Given the description of an element on the screen output the (x, y) to click on. 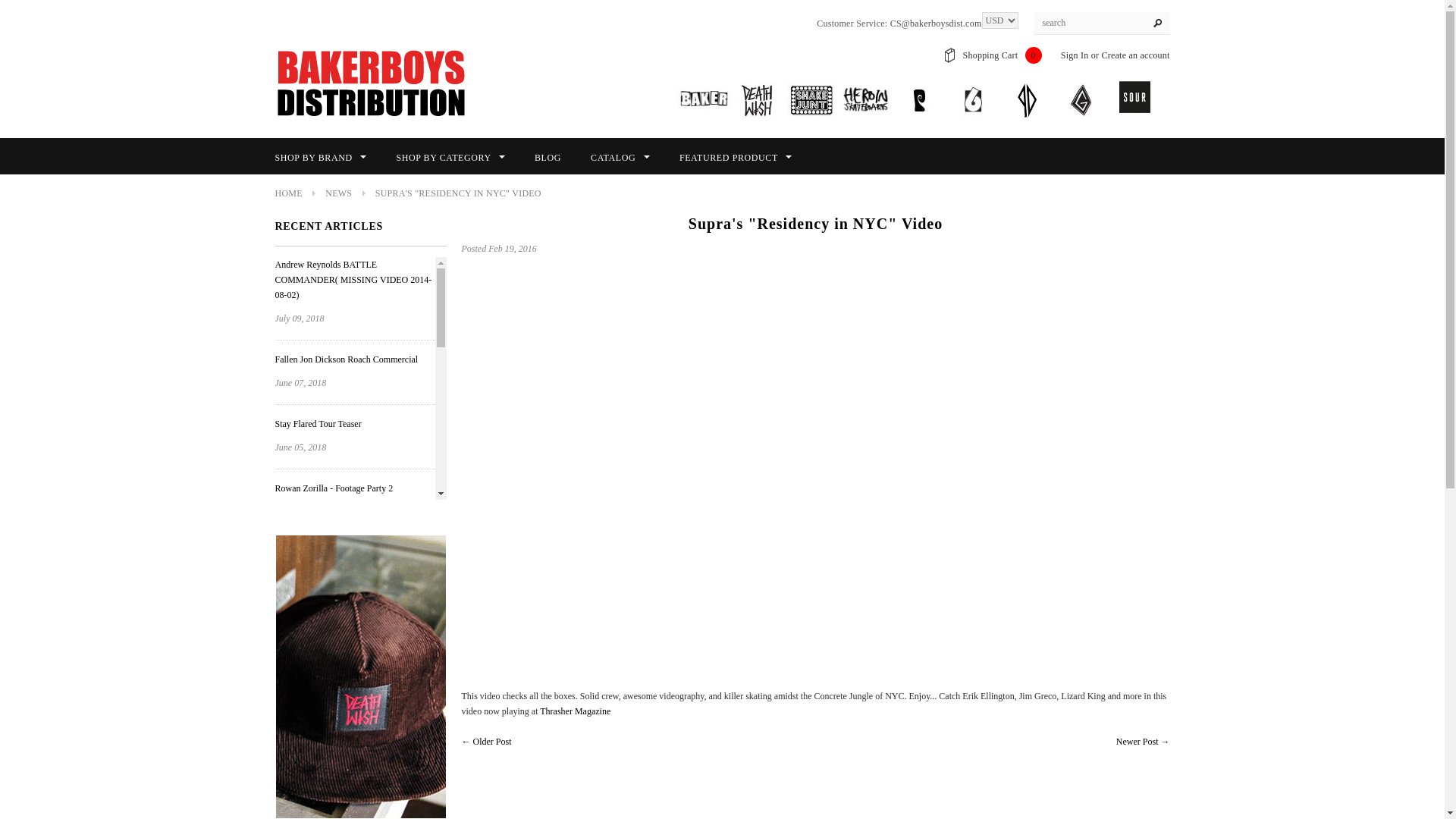
Search (1158, 23)
Search (1158, 23)
Create an account (1134, 54)
Sign In (1075, 54)
SHOP BY BRAND (320, 157)
Shopping Cart 0 (1002, 54)
Back to the frontpage (288, 193)
